Given the description of an element on the screen output the (x, y) to click on. 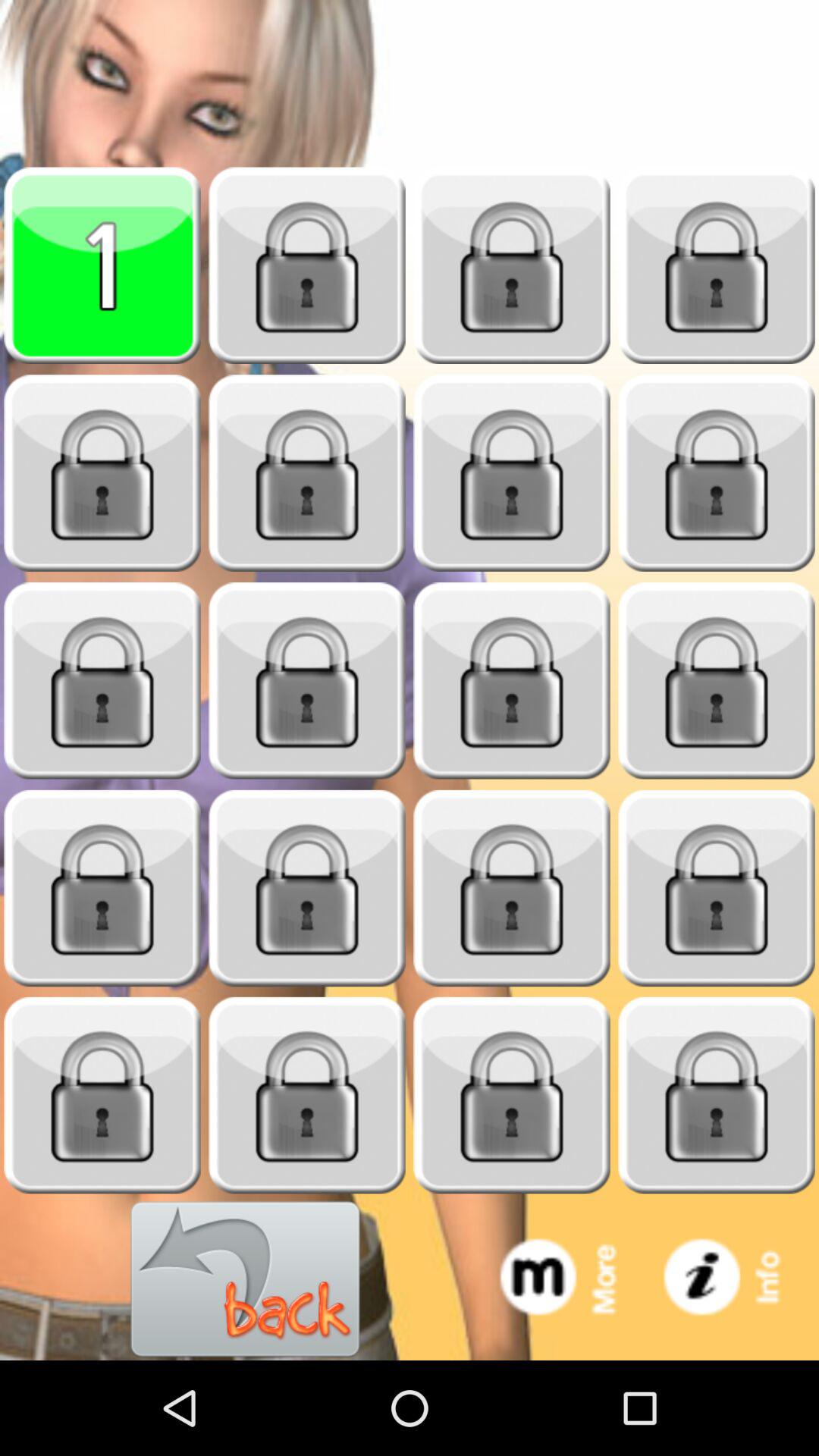
select option (102, 680)
